Given the description of an element on the screen output the (x, y) to click on. 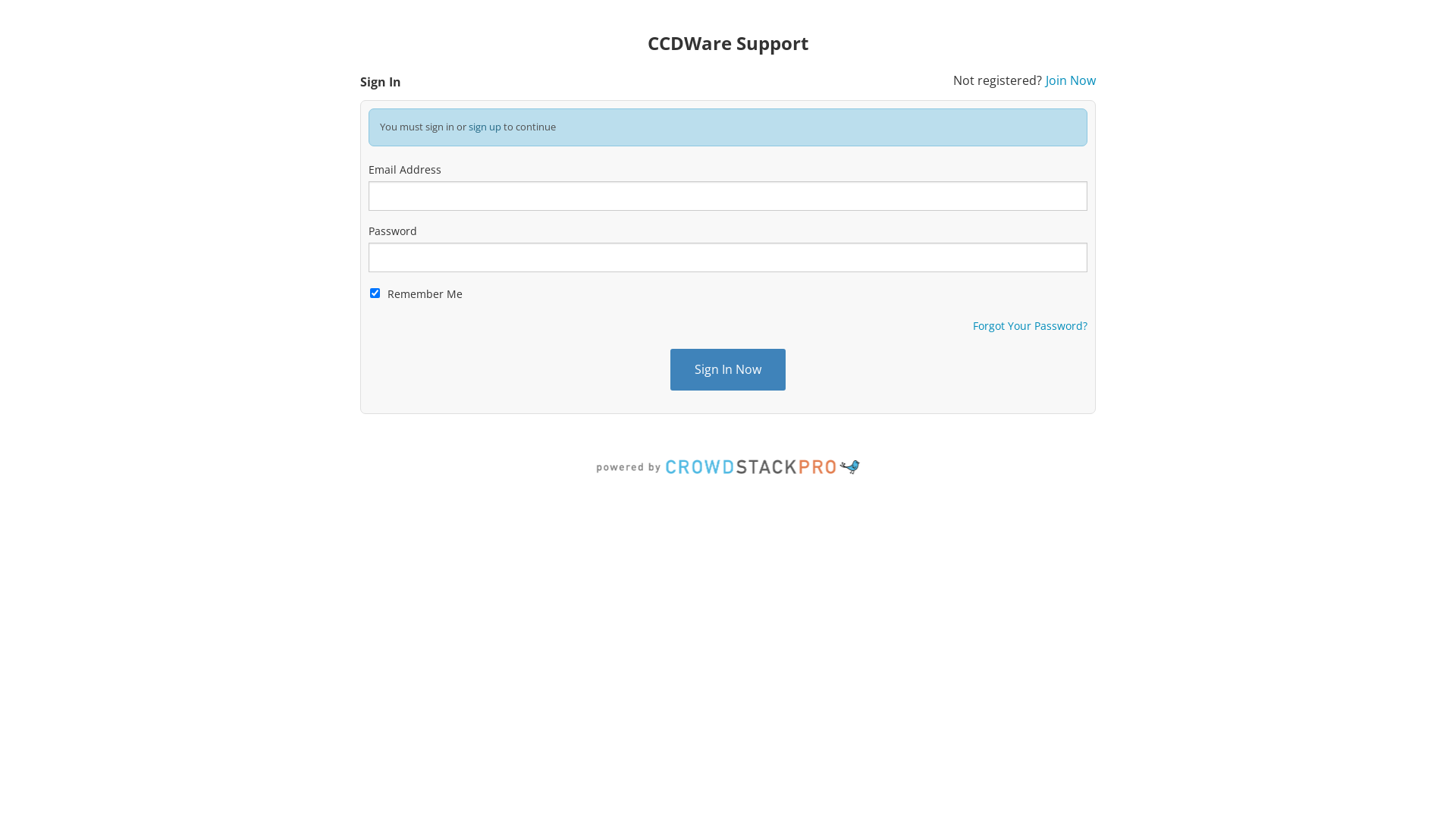
Sign In Now Element type: text (727, 369)
sign up Element type: text (484, 126)
Forgot Your Password? Element type: text (1029, 325)
Join Now Element type: text (1070, 80)
